Given the description of an element on the screen output the (x, y) to click on. 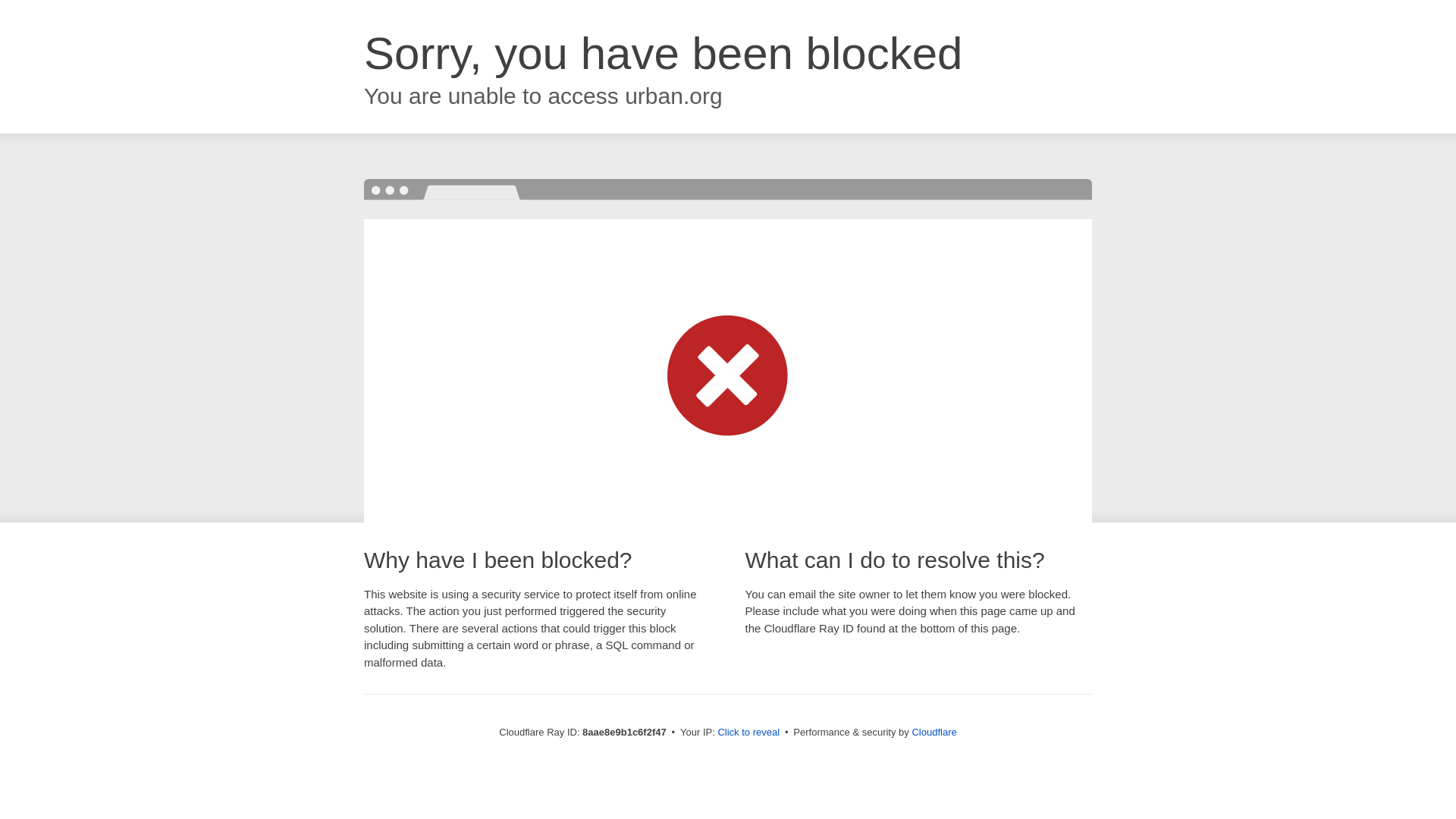
Cloudflare (933, 731)
Click to reveal (747, 732)
